Given the description of an element on the screen output the (x, y) to click on. 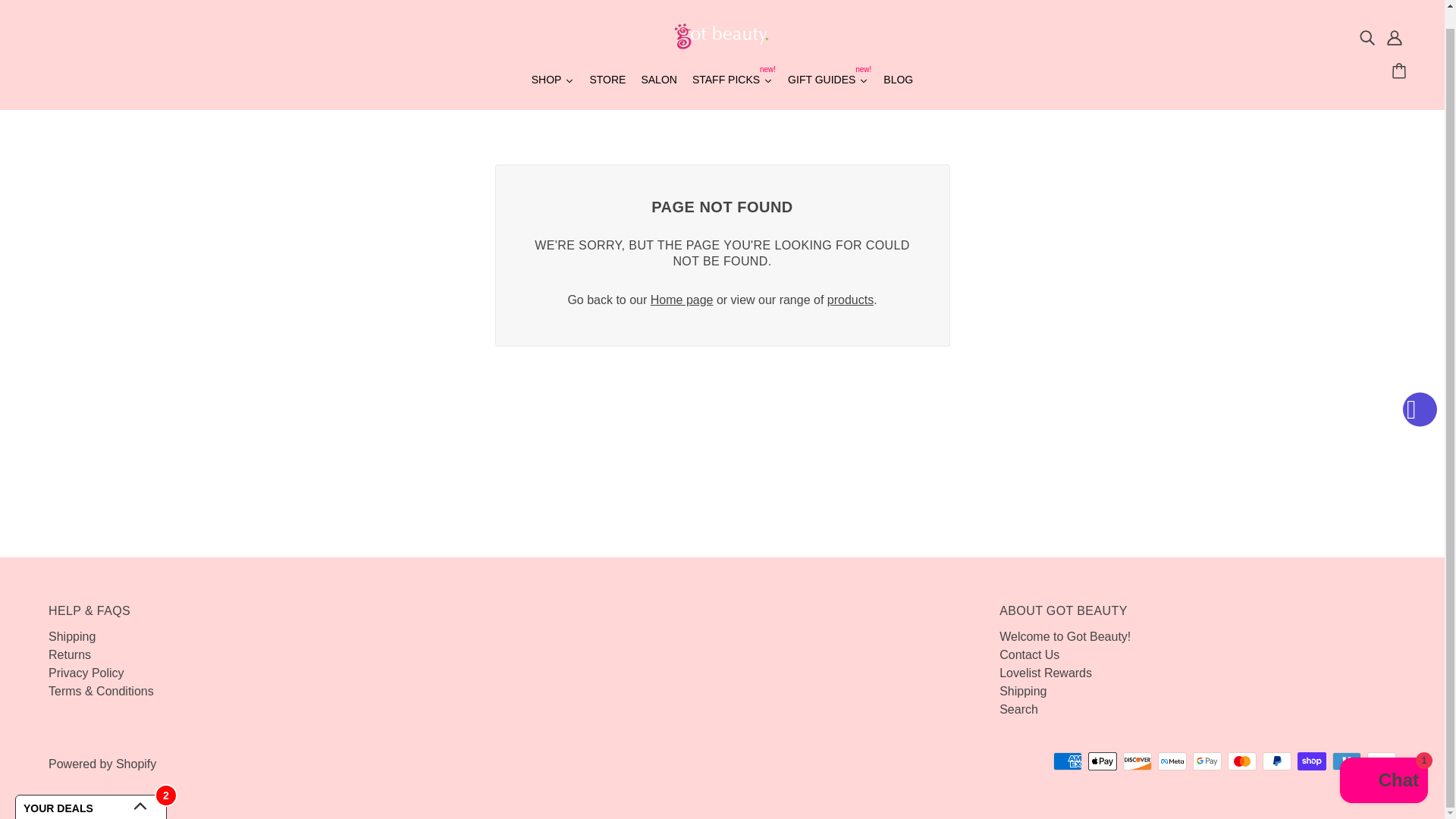
STORE (606, 81)
Lovelist Rewards (1045, 672)
Returns (828, 81)
Lovelist Rewards (69, 654)
products (1045, 672)
BLOG (850, 299)
SALON (898, 81)
Privacy Policy (658, 81)
Shipping (85, 672)
SALON (72, 635)
Welcome to Got Beauty! (658, 81)
BLOG (732, 81)
Search (1064, 635)
